Given the description of an element on the screen output the (x, y) to click on. 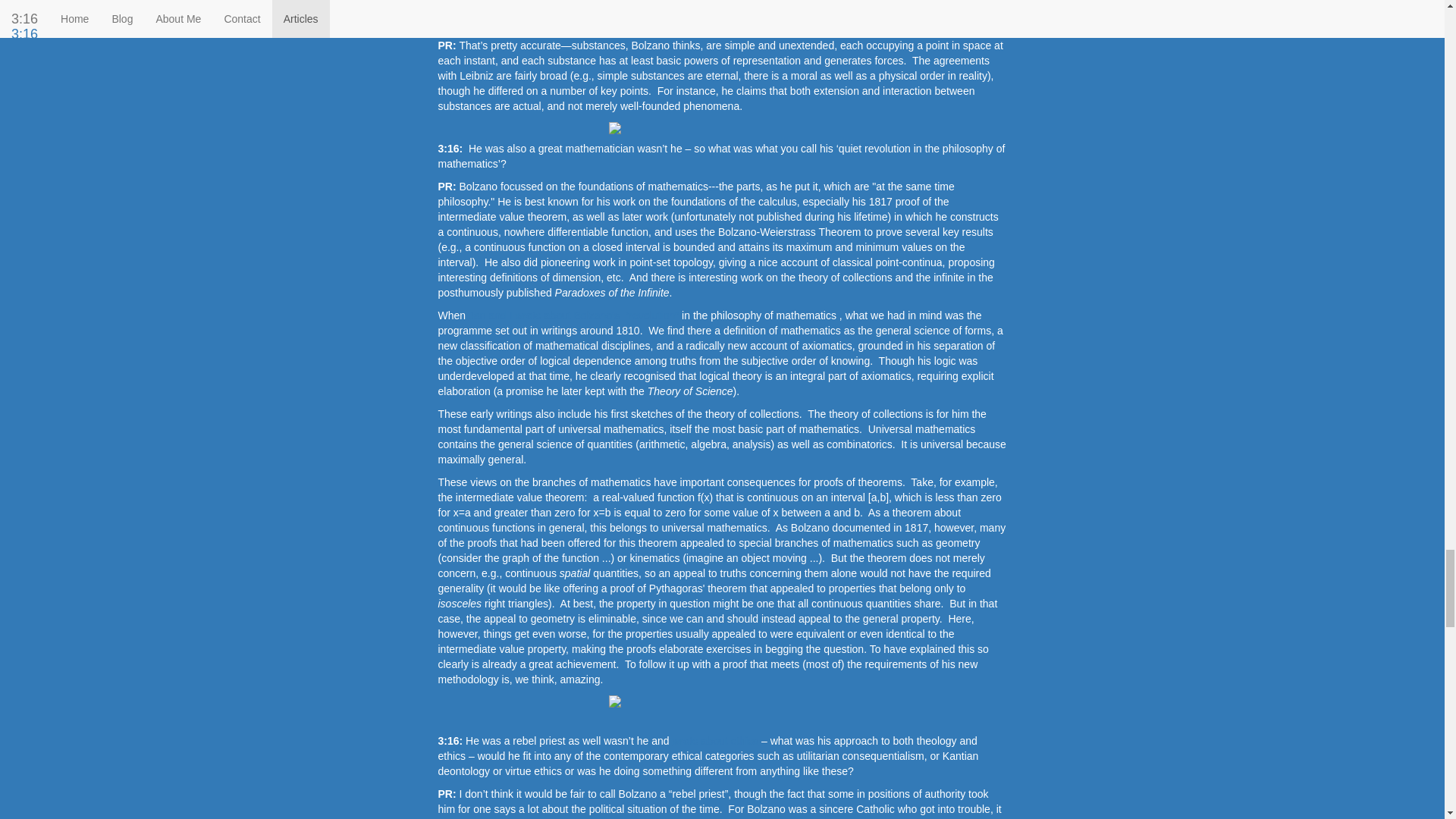
Jan and I wrote about Bolzano's  "revolution"  (574, 315)
wrote about ethics (714, 740)
